Given the description of an element on the screen output the (x, y) to click on. 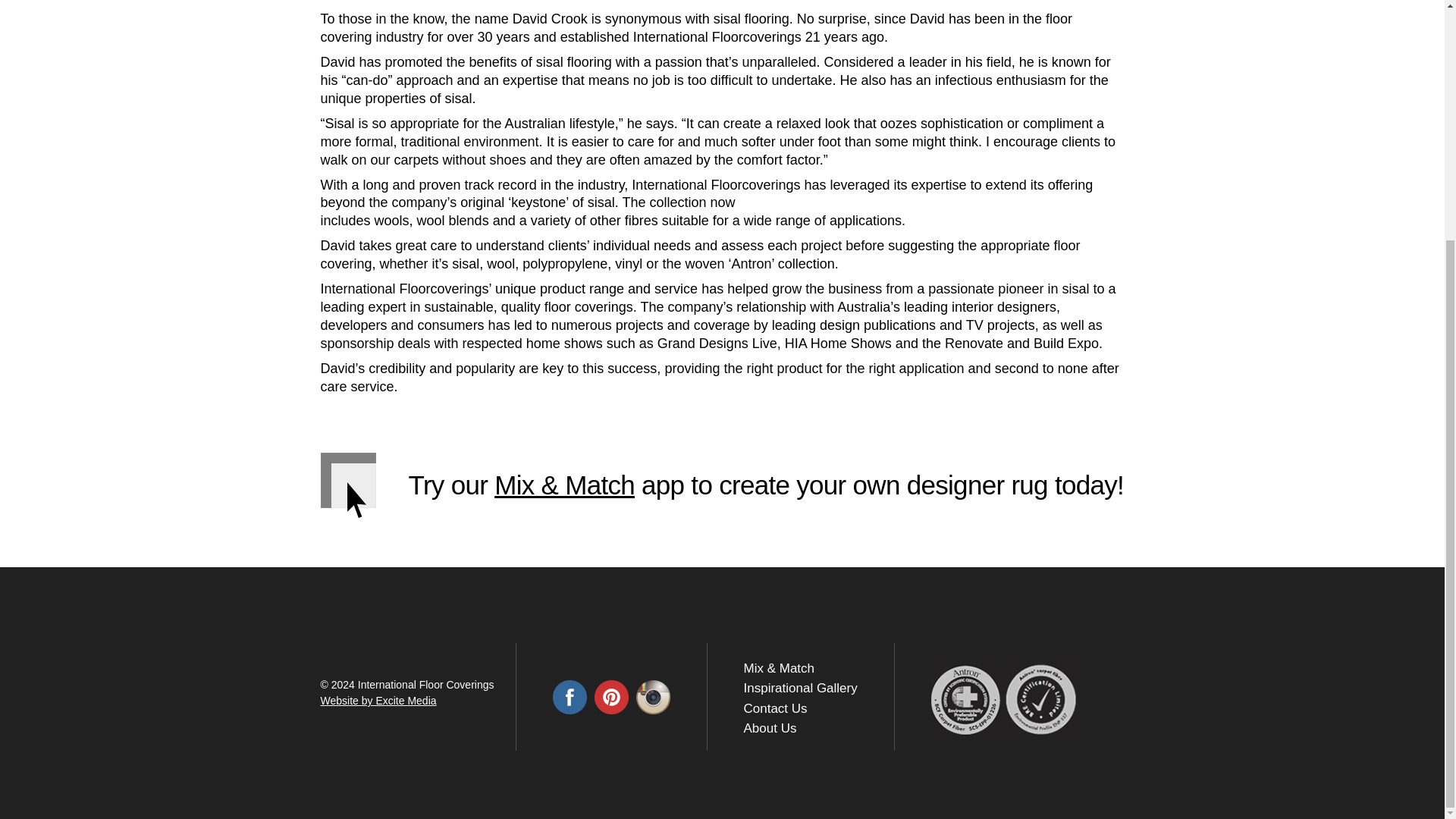
Interfloors on Instagram (651, 697)
Interfloors on Facebook (568, 697)
Interfloors on Pinterest (611, 697)
